Given the description of an element on the screen output the (x, y) to click on. 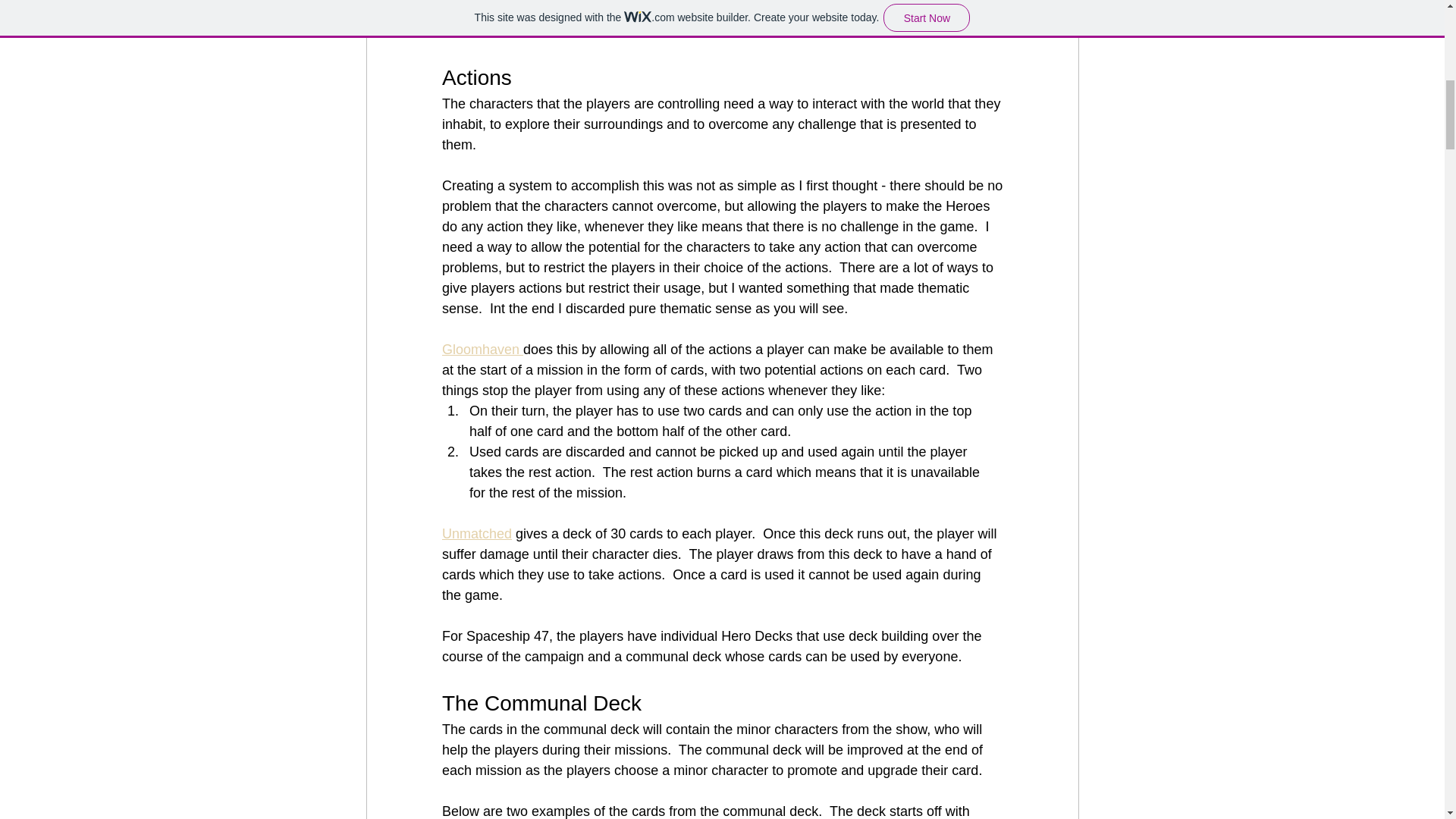
Gloomhaven  (481, 349)
Unmatched (476, 533)
here (454, 30)
